Given the description of an element on the screen output the (x, y) to click on. 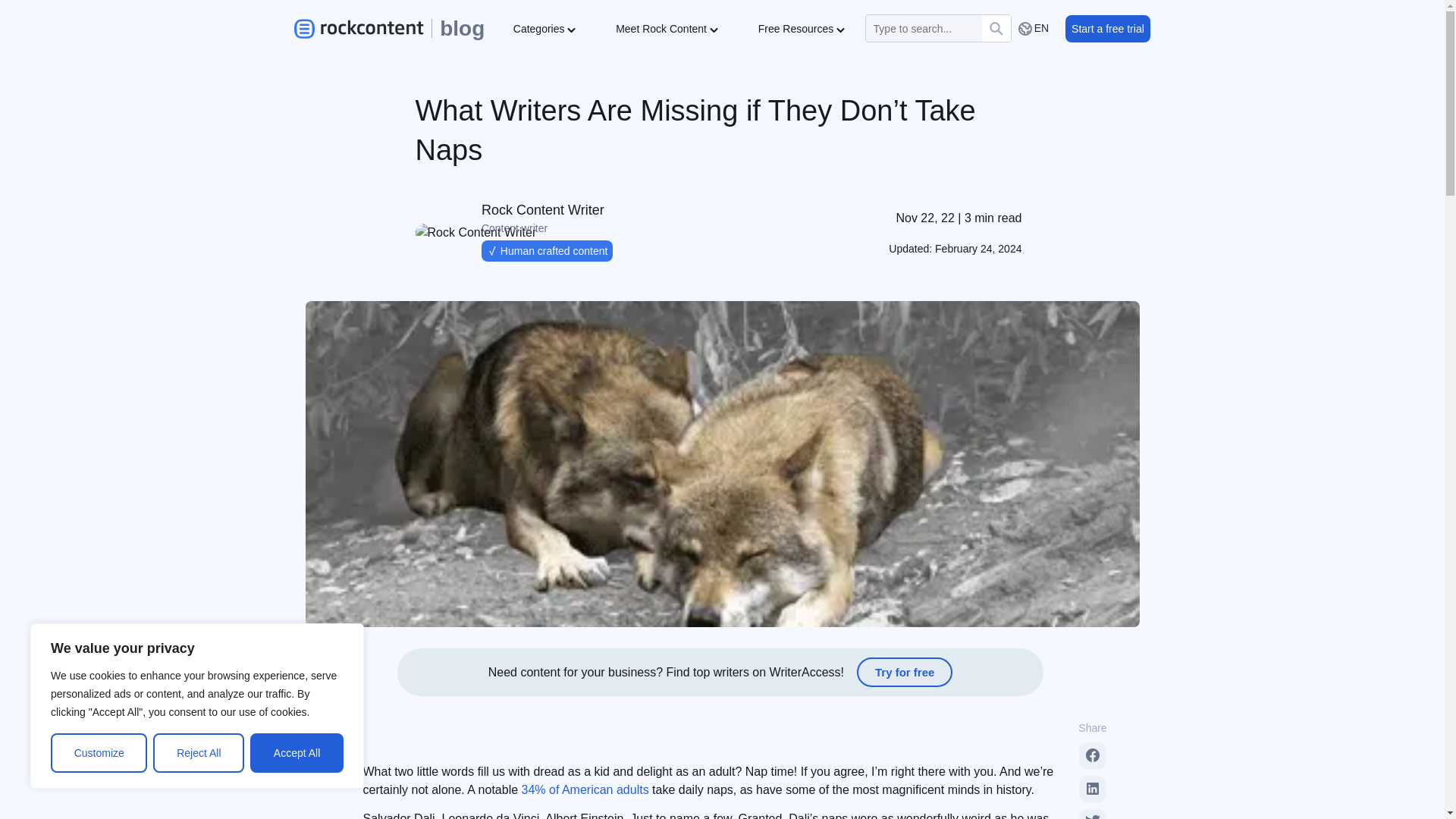
Meet Rock Content (666, 27)
linkedin (1092, 788)
twitter (1092, 816)
Free Resources (801, 27)
facebook (1092, 755)
Categories (544, 27)
Reject All (198, 753)
Meet Rock Content (666, 27)
Free Resources (801, 27)
Accept All (296, 753)
